Given the description of an element on the screen output the (x, y) to click on. 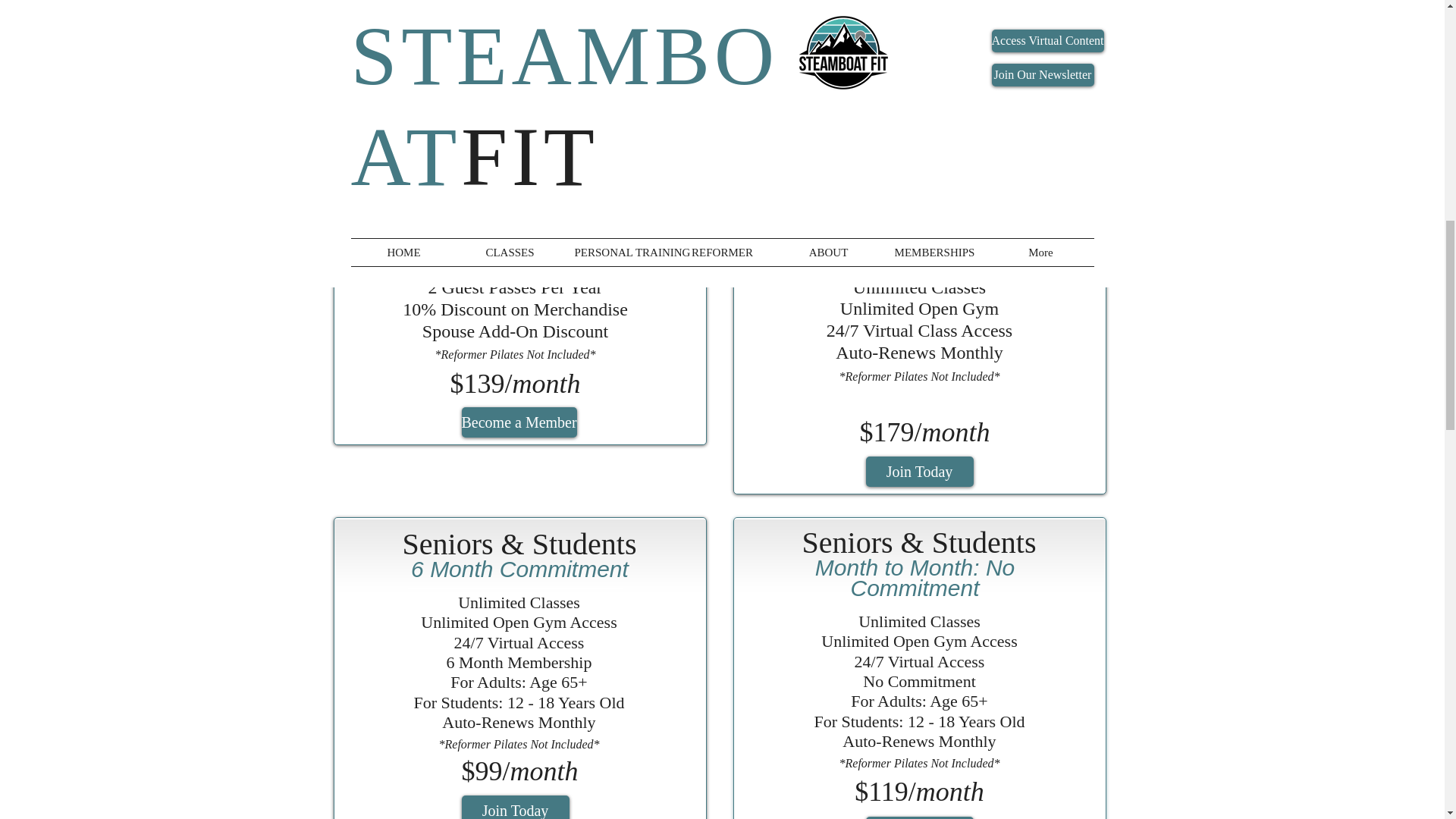
Join Today (920, 817)
Join Today (920, 471)
Join Today (515, 807)
Join Today (515, 24)
Become a Member (518, 422)
Buy Intro Offer (920, 64)
